Given the description of an element on the screen output the (x, y) to click on. 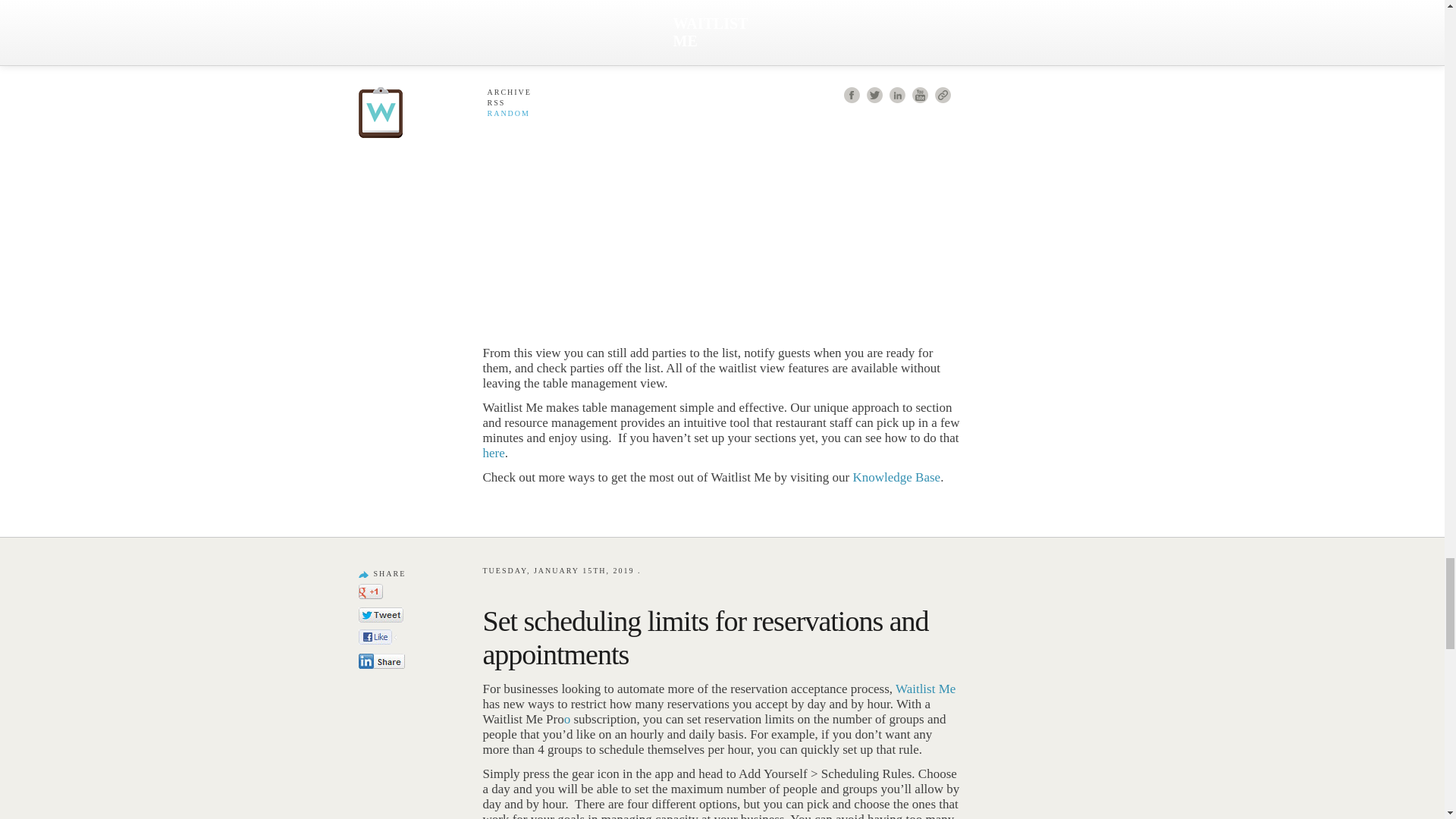
Be the first one to tweet this article! (398, 615)
Set scheduling limits for reservations and appointments (704, 637)
